Given the description of an element on the screen output the (x, y) to click on. 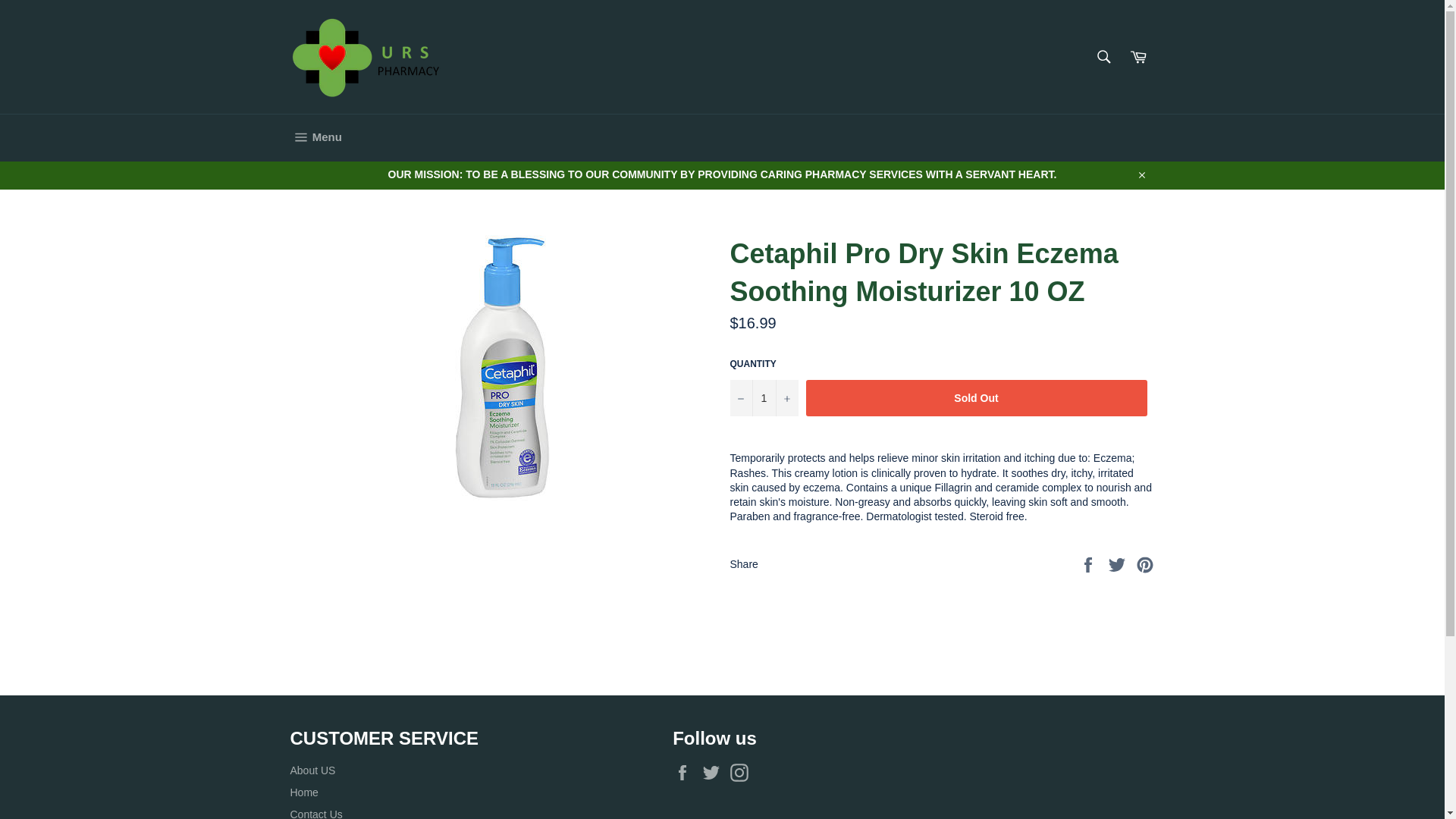
Share on Facebook (1089, 563)
URS Pharmacy on Twitter (714, 772)
Tweet on Twitter (1118, 563)
1 (763, 398)
Pin on Pinterest (1144, 563)
URS Pharmacy on Instagram (742, 772)
URS Pharmacy on Facebook (685, 772)
